Given the description of an element on the screen output the (x, y) to click on. 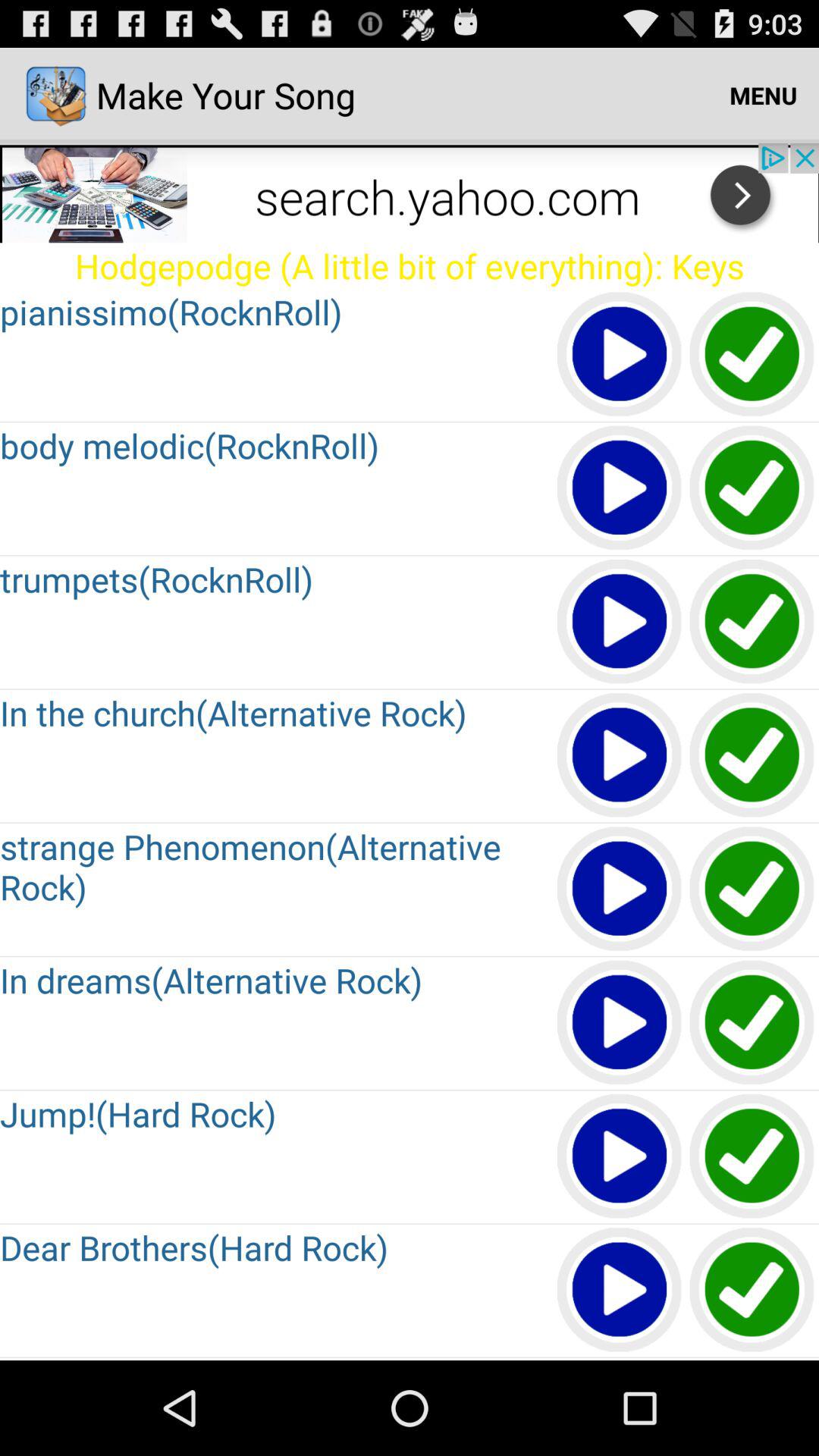
select song (752, 488)
